Given the description of an element on the screen output the (x, y) to click on. 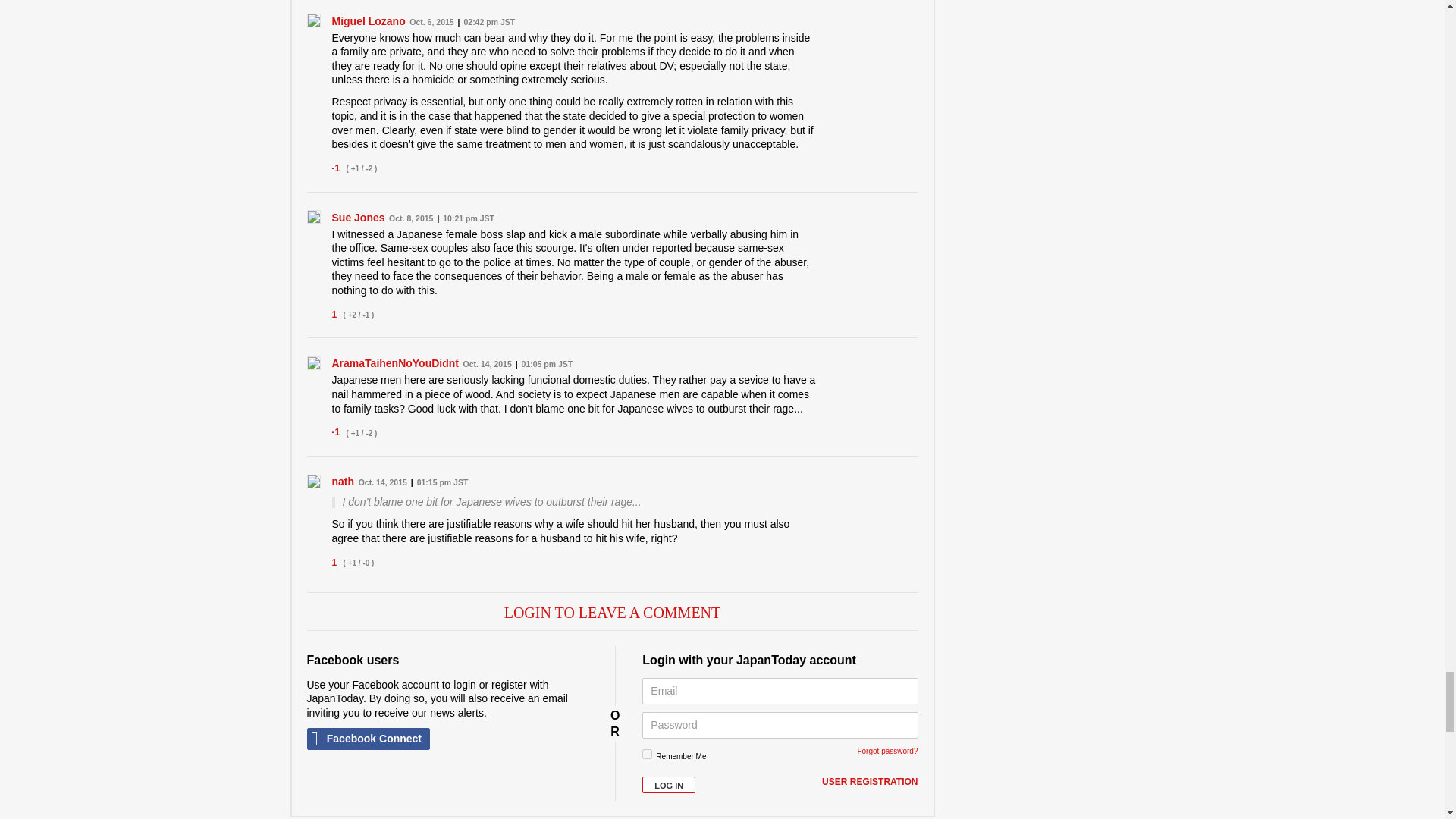
1 (647, 754)
Log In (668, 784)
Connect with Facebook (367, 739)
User registration (869, 782)
Forgot password? (887, 750)
